Given the description of an element on the screen output the (x, y) to click on. 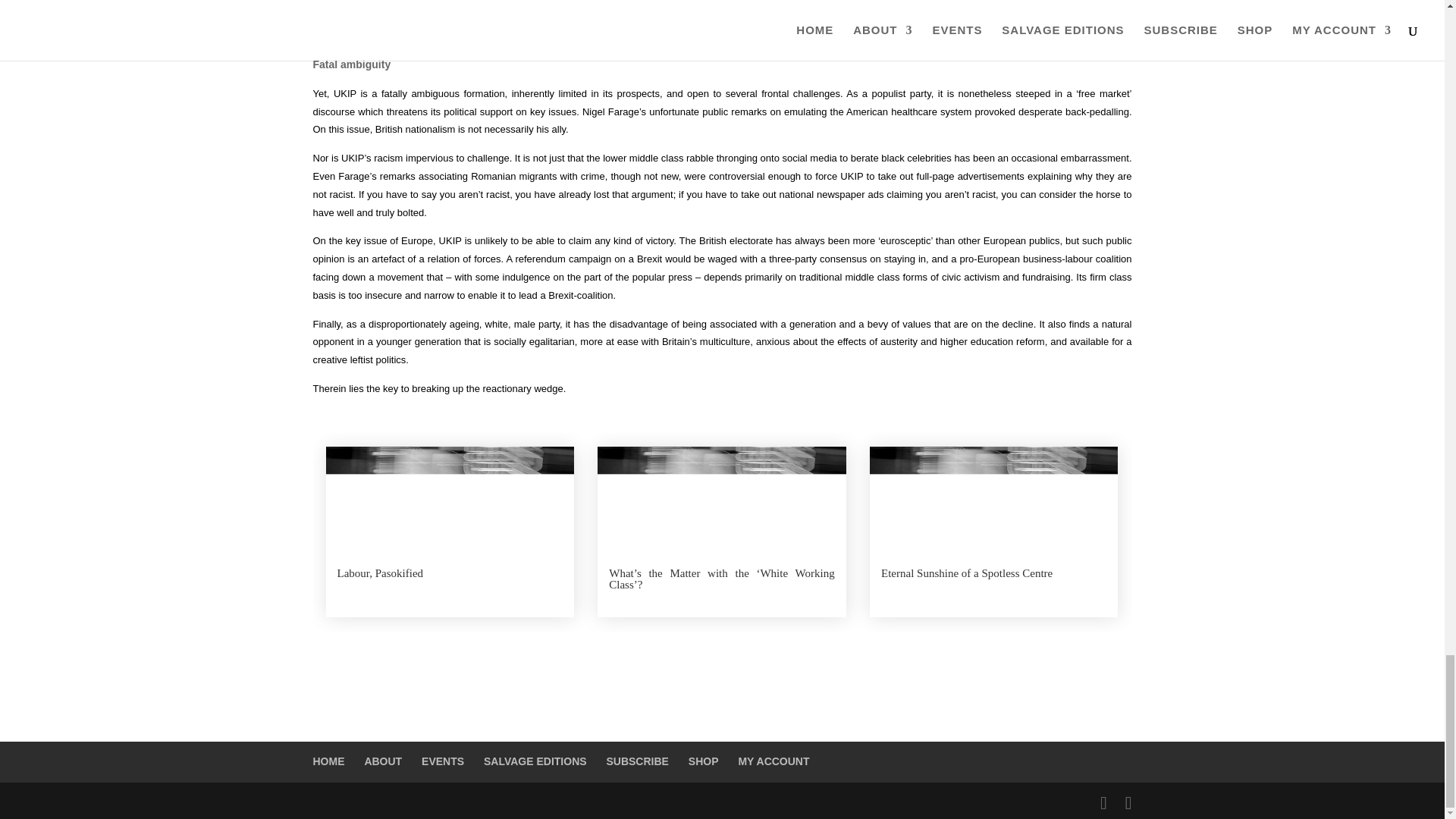
SUBSCRIBE (636, 761)
EVENTS (443, 761)
HOME (328, 761)
MY ACCOUNT (773, 761)
Labour, Pasokified (379, 573)
ABOUT (382, 761)
SALVAGE EDITIONS (534, 761)
SHOP (703, 761)
Eternal Sunshine of a Spotless Centre (966, 573)
